Given the description of an element on the screen output the (x, y) to click on. 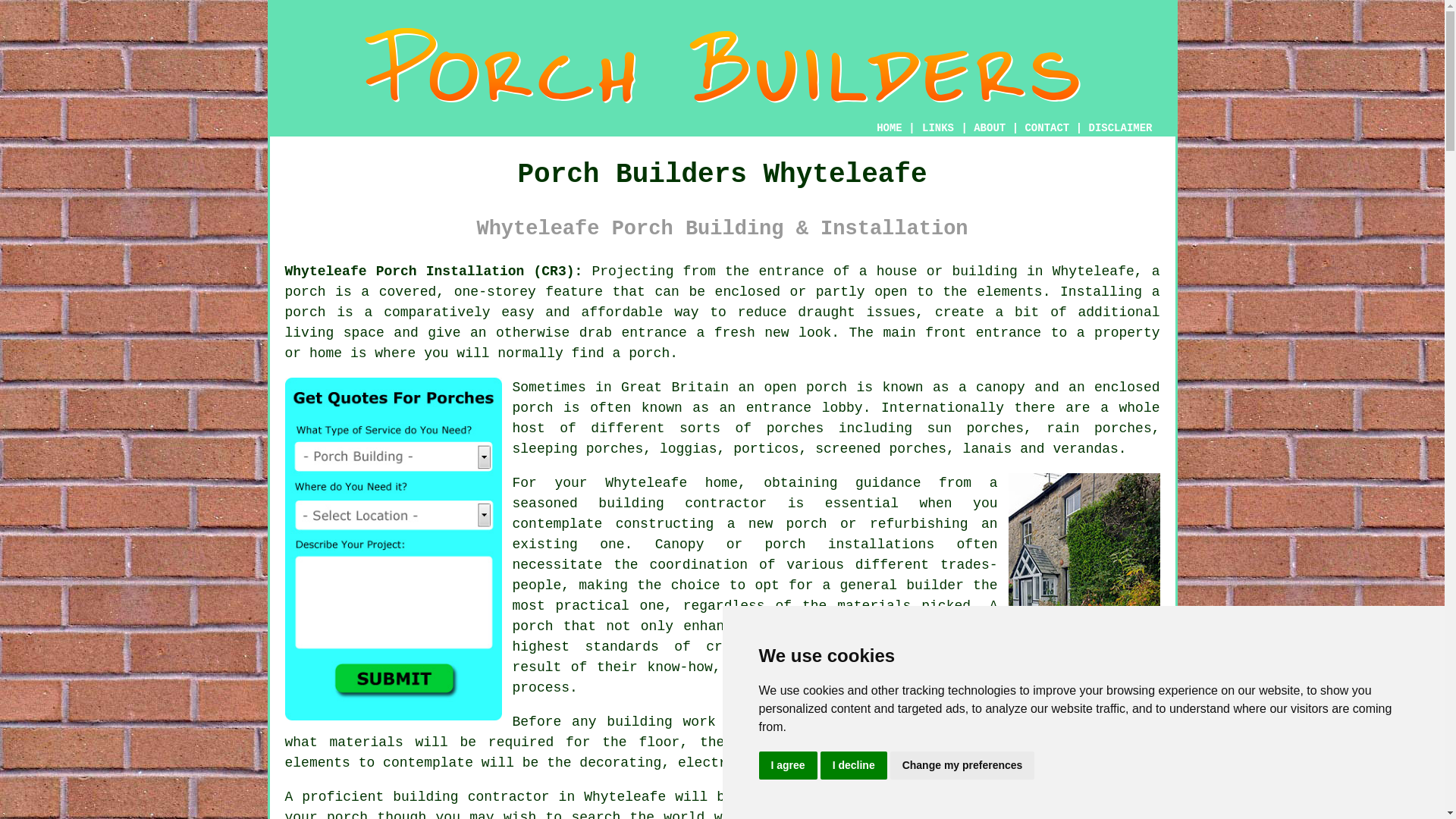
HOME (889, 128)
verandas (1085, 448)
LINKS (938, 128)
screened porches (880, 448)
Change my preferences (962, 765)
I decline (853, 765)
Porch Builders Whyteleafe (722, 65)
I agree (787, 765)
